Given the description of an element on the screen output the (x, y) to click on. 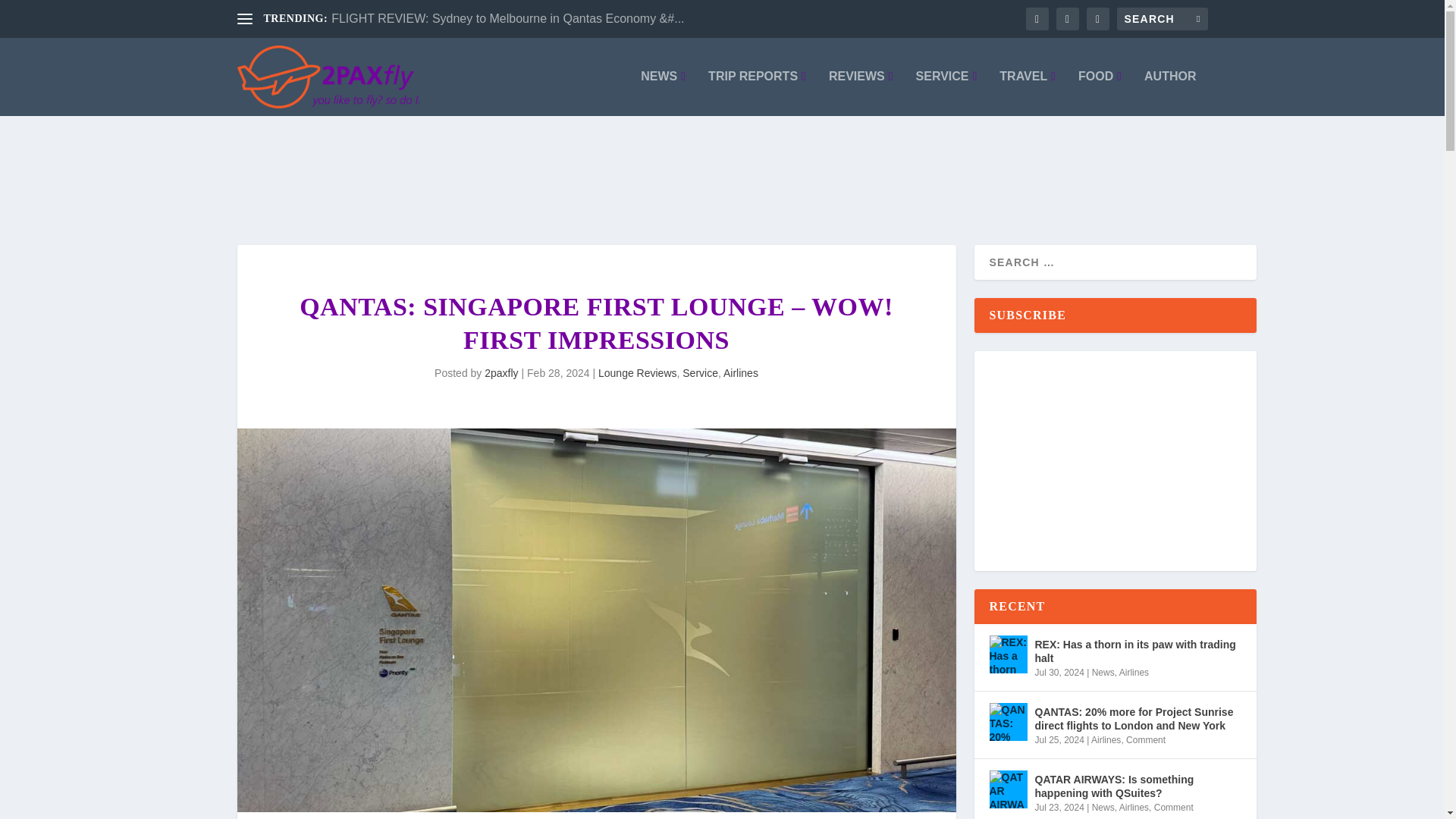
RECENT (1034, 121)
Search for: (1161, 18)
NEWS (662, 93)
